Given the description of an element on the screen output the (x, y) to click on. 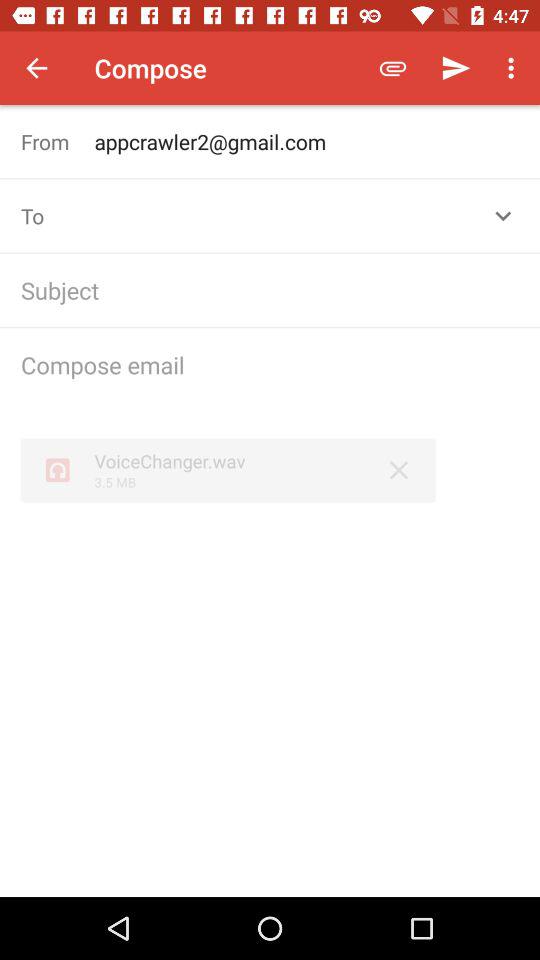
select the text from which is below compose (58, 141)
select the to (58, 215)
click the send icon (456, 68)
select the menu icon (514, 68)
